Given the description of an element on the screen output the (x, y) to click on. 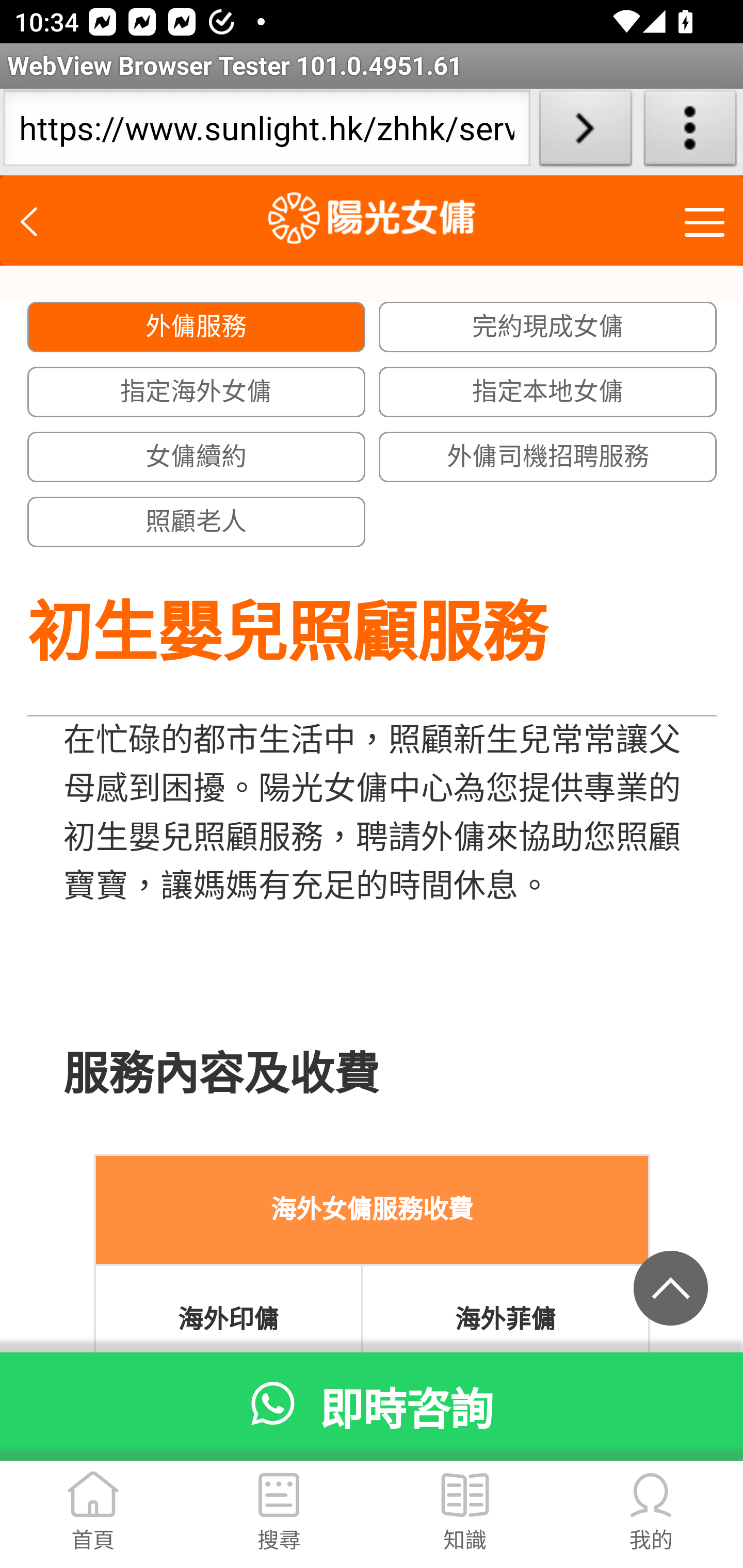
https://www.sunlight.hk/zhhk/services/baby.html (266, 132)
Load URL (585, 132)
About WebView (690, 132)
go_back (36, 216)
外傭服務 (195, 327)
完約現成女傭 (547, 327)
指定海外女傭 (195, 391)
指定本地女傭 (547, 391)
女傭續約 (195, 456)
外傭司機招聘服務 (547, 456)
照顧老人 (195, 522)
go_top (670, 1287)
home (92, 1497)
order (278, 1497)
information (464, 1497)
my (650, 1497)
